Given the description of an element on the screen output the (x, y) to click on. 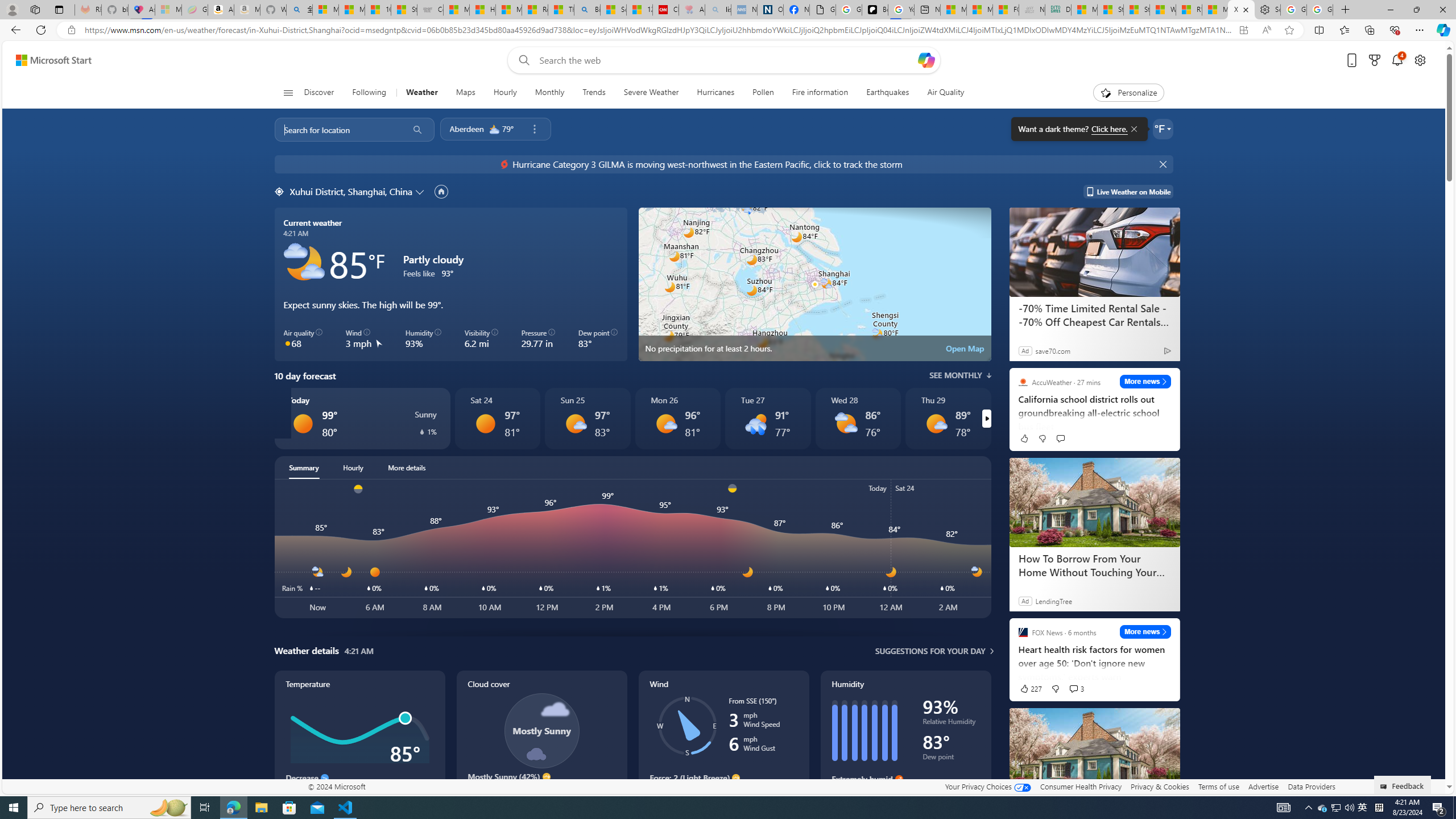
Sunny (484, 422)
Trends (37, 370)
Increasing with a peak of 95% at 5:00 AM. (905, 795)
Air quality 68 (303, 338)
Class: aqiColorCycle-DS-EntryPoint1-1 (287, 343)
